Given the description of an element on the screen output the (x, y) to click on. 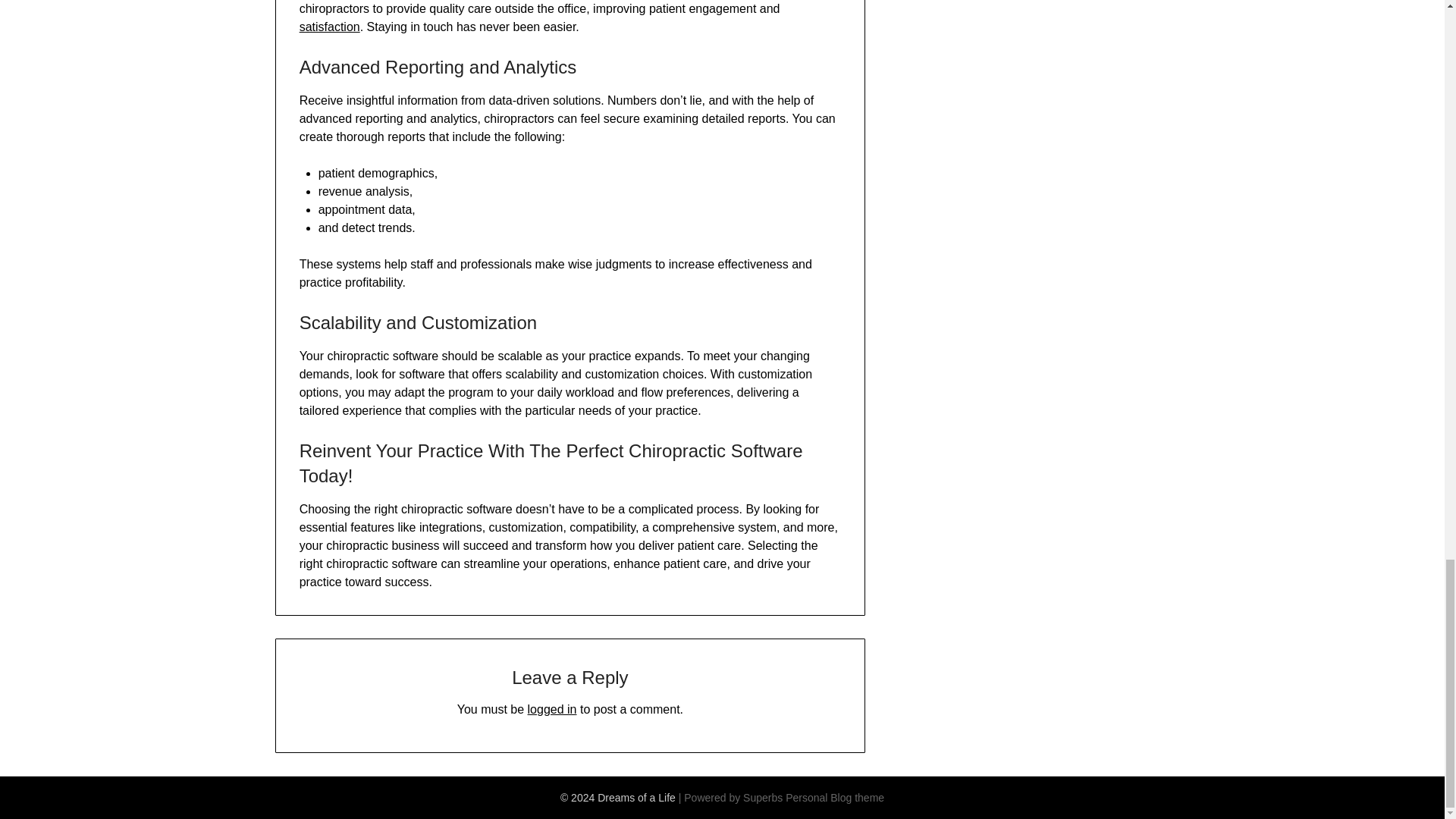
satisfaction (329, 26)
logged in (551, 708)
Personal Blog theme (834, 797)
